Given the description of an element on the screen output the (x, y) to click on. 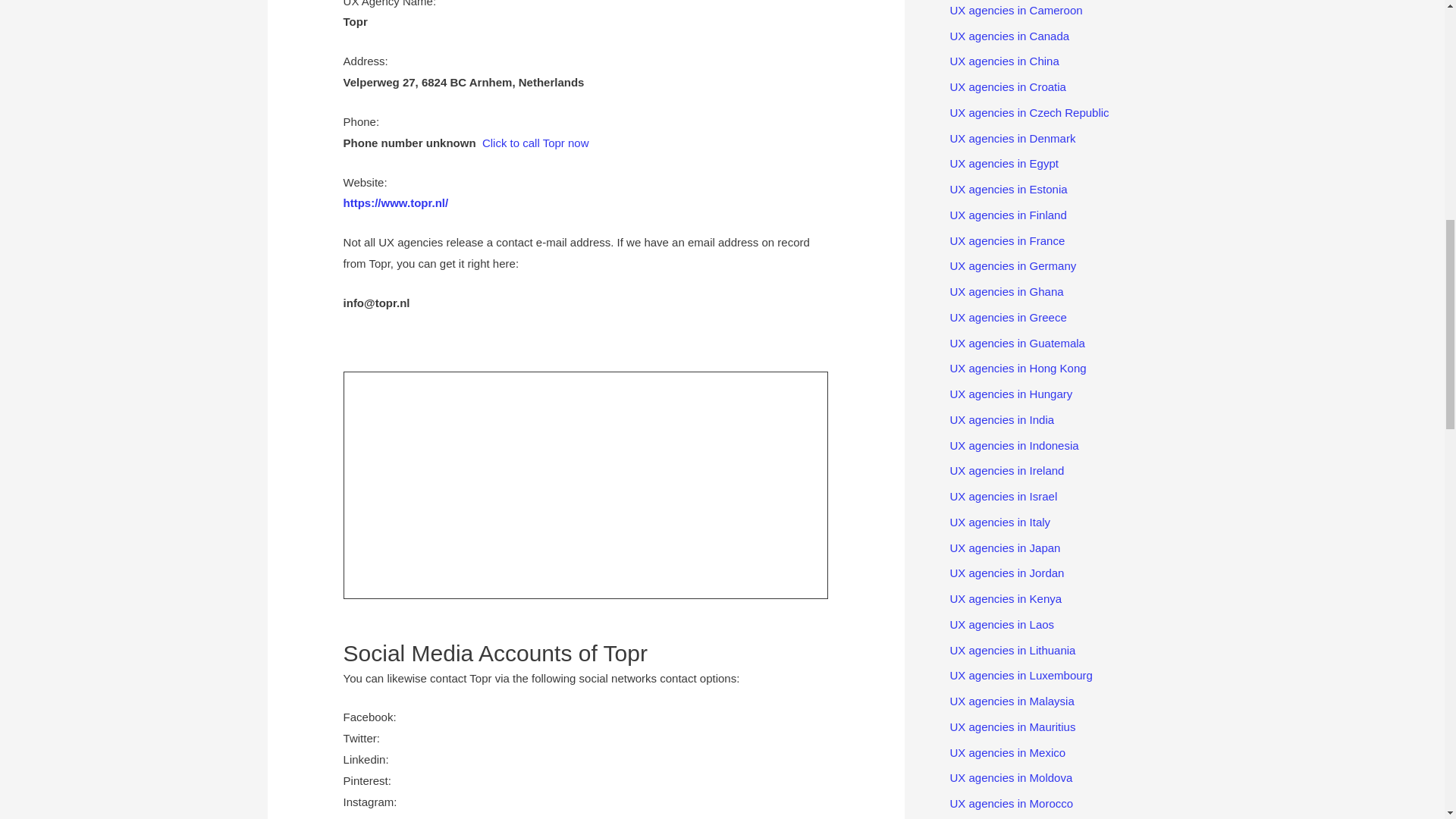
UX agencies in China (1003, 60)
UX agencies in Canada (1008, 34)
UX agencies in Croatia (1007, 86)
Click to call Topr now (535, 142)
UX agencies in Czech Republic (1028, 112)
UX agencies in Cameroon (1015, 10)
